Given the description of an element on the screen output the (x, y) to click on. 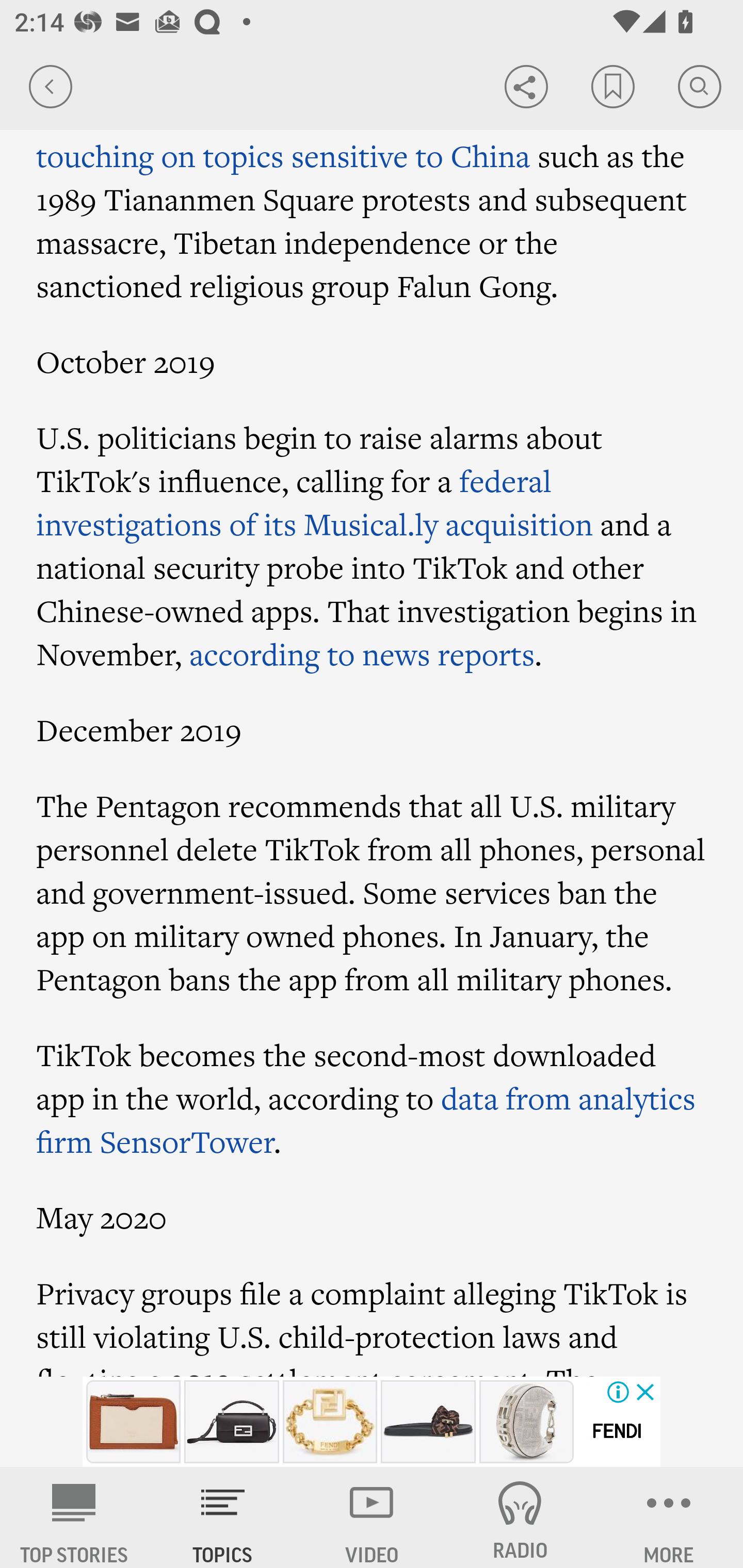
according to news reports (360, 653)
data from analytics firm SensorTower (366, 1120)
fendi-feel-brown-satin-slides-8x8142ae7sf0r7v (428, 1420)
AP News TOP STORIES (74, 1517)
TOPICS (222, 1517)
VIDEO (371, 1517)
RADIO (519, 1517)
MORE (668, 1517)
